Given the description of an element on the screen output the (x, y) to click on. 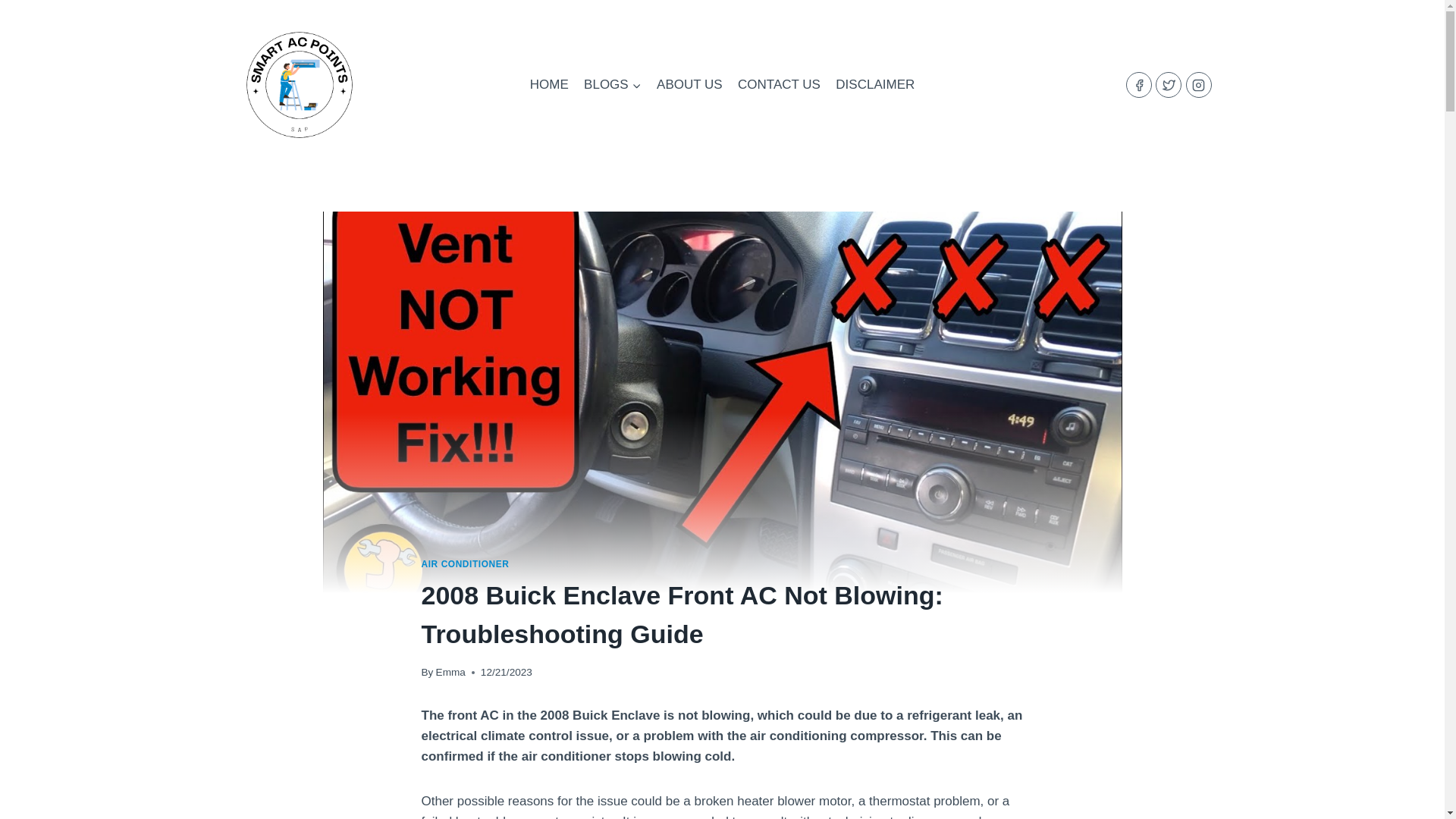
HOME (549, 84)
DISCLAIMER (874, 84)
Emma (450, 672)
AIR CONDITIONER (465, 563)
BLOGS (612, 84)
ABOUT US (689, 84)
CONTACT US (779, 84)
